Given the description of an element on the screen output the (x, y) to click on. 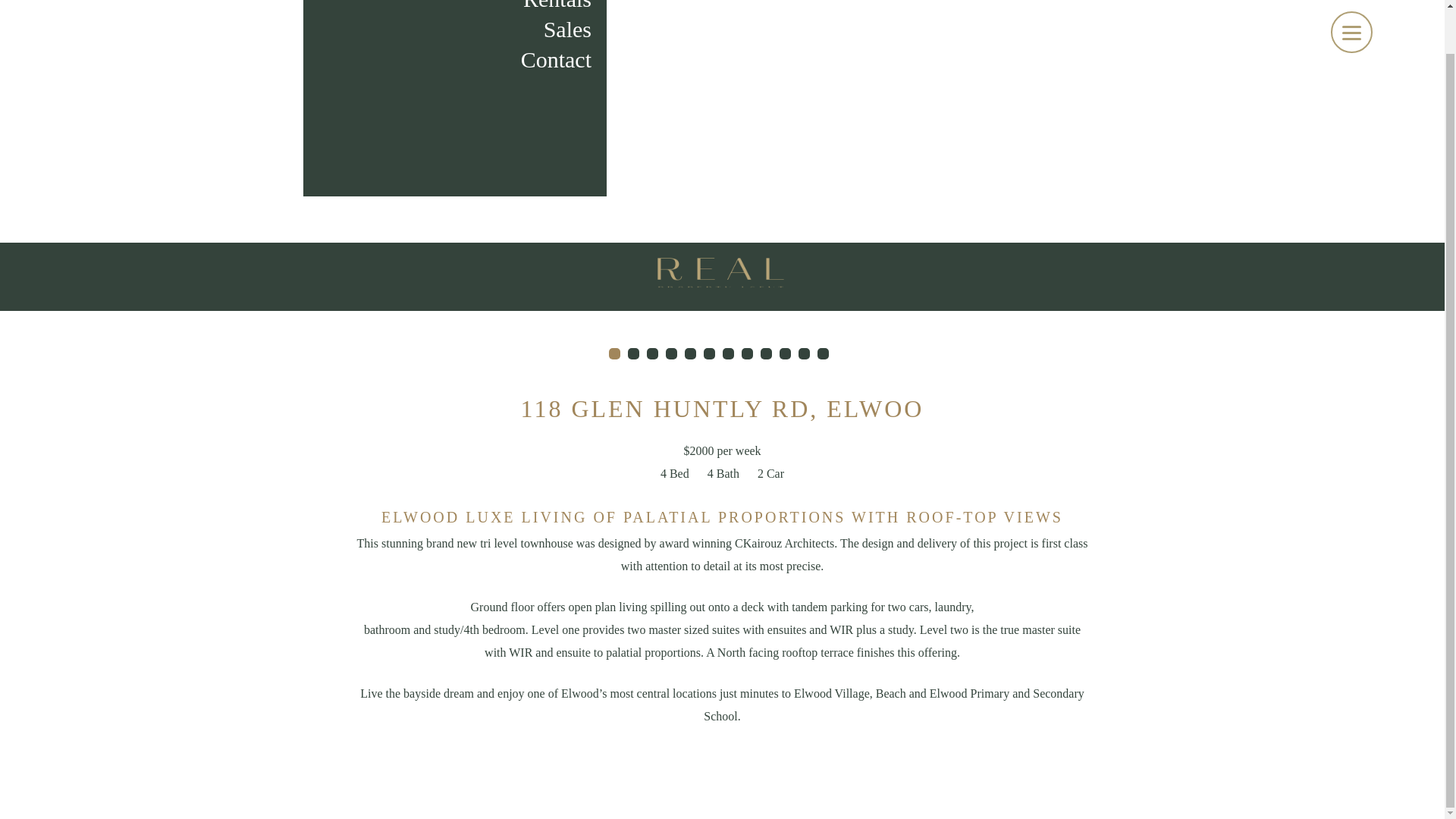
Rentals (454, 7)
Contact (454, 60)
Sales (454, 29)
